Given the description of an element on the screen output the (x, y) to click on. 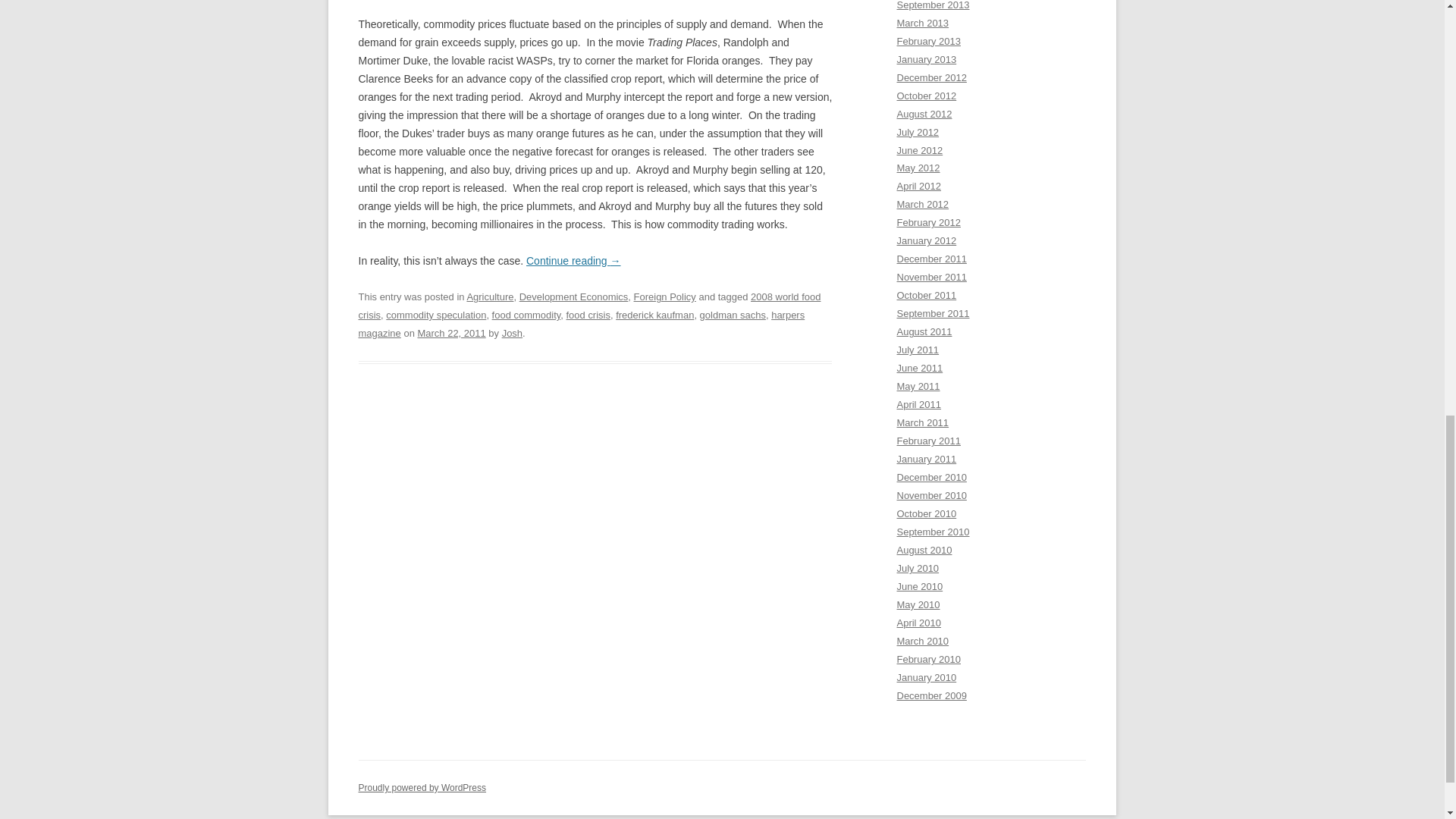
goldman sachs (732, 315)
commodity speculation (435, 315)
Development Economics (573, 296)
Semantic Personal Publishing Platform (422, 787)
food crisis (588, 315)
View all posts by Josh (512, 333)
food commodity (526, 315)
6:09 am (450, 333)
Foreign Policy (664, 296)
frederick kaufman (654, 315)
Josh (512, 333)
harpers magazine (581, 324)
Agriculture (489, 296)
2008 world food crisis (589, 306)
March 22, 2011 (450, 333)
